Given the description of an element on the screen output the (x, y) to click on. 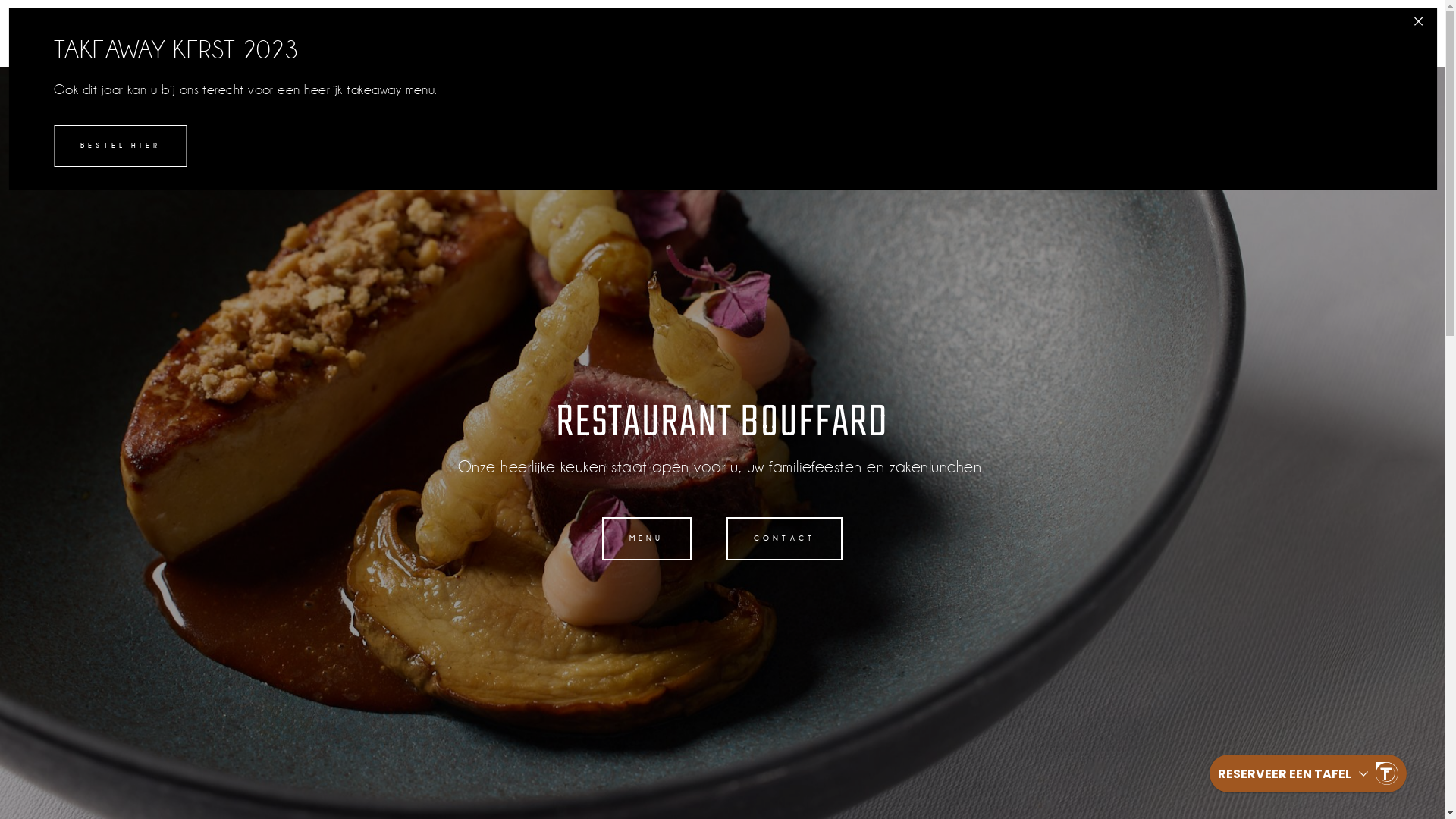
CADEAUBON Element type: text (1272, 35)
OVER ONS Element type: text (980, 35)
HOME Element type: text (891, 35)
CONTACT Element type: text (1383, 35)
MENU Element type: text (646, 538)
MENU Element type: text (1069, 35)
IMPRESSIE Element type: text (1158, 35)
CONTACT Element type: text (784, 538)
BESTEL HIER Element type: text (120, 145)
